Given the description of an element on the screen output the (x, y) to click on. 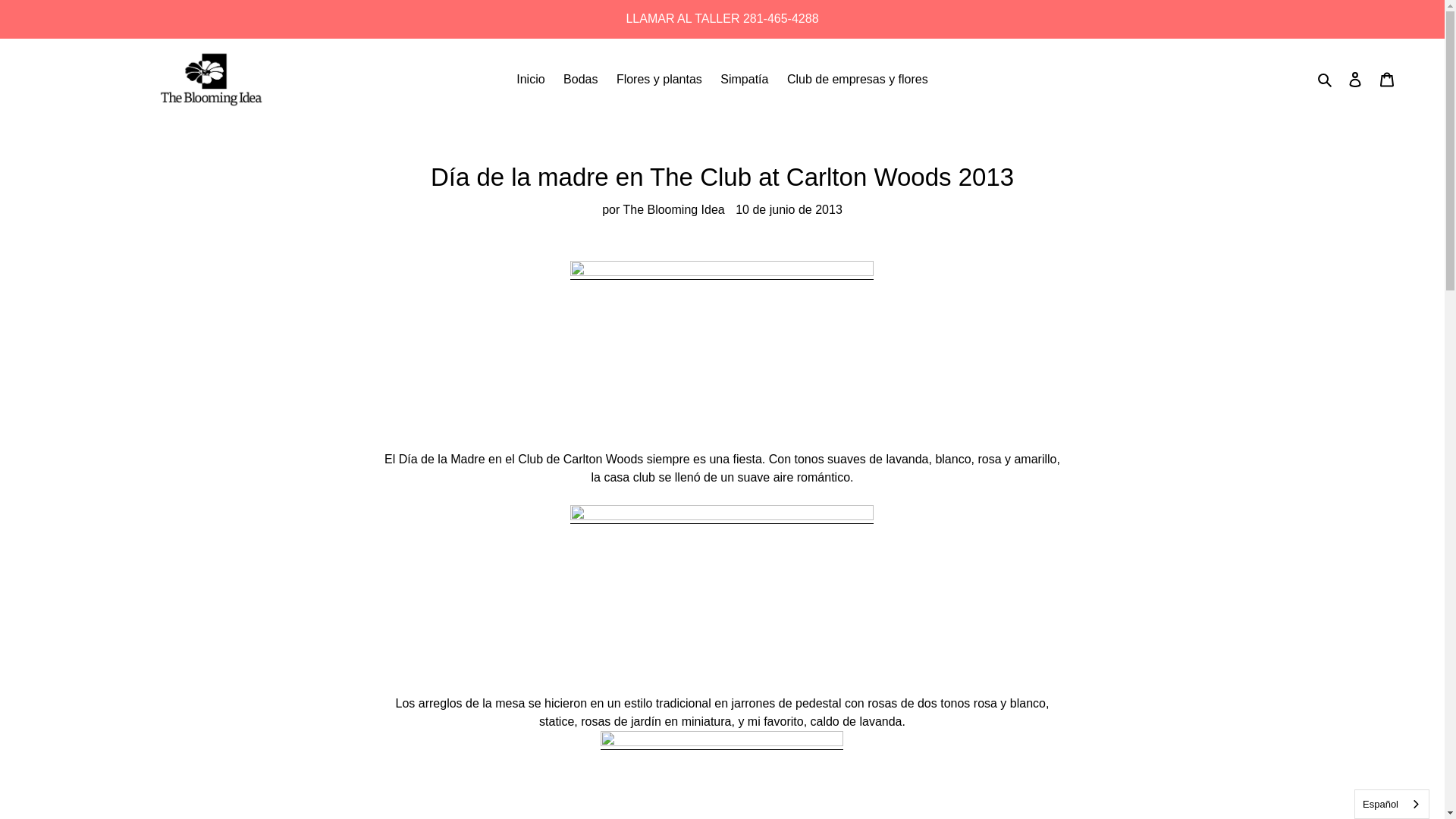
LLAMAR AL TALLER 281-465-4288 (721, 18)
Flores y plantas (659, 78)
Conectarse (1355, 78)
Carrito (1387, 78)
Inicio (529, 78)
Bodas (580, 78)
Buscar en (1326, 79)
Club de empresas y flores (857, 78)
